Given the description of an element on the screen output the (x, y) to click on. 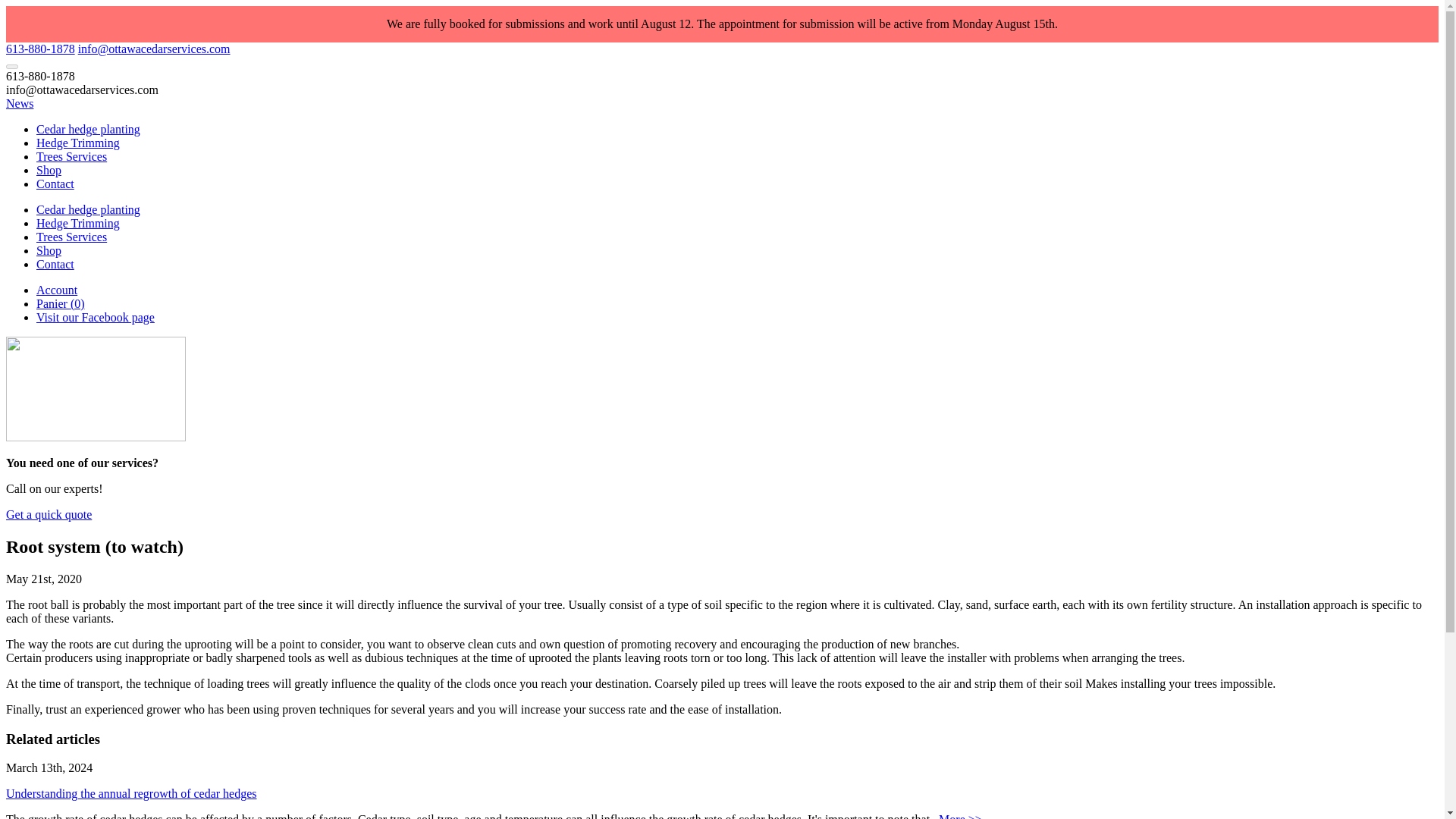
Contact (55, 183)
Hedge Trimming (77, 223)
Account (56, 289)
Trees Services (71, 236)
Cedar hedge planting (87, 209)
Shop (48, 250)
Get a quick quote (48, 513)
Trees Services (71, 155)
Cedar hedge planting (87, 209)
Hedge Trimming (77, 142)
Visit our Facebook page (95, 317)
Understanding the annual regrowth of cedar hedges (131, 793)
Contact (55, 264)
Hedge Trimming (77, 142)
Trees Services (71, 155)
